Given the description of an element on the screen output the (x, y) to click on. 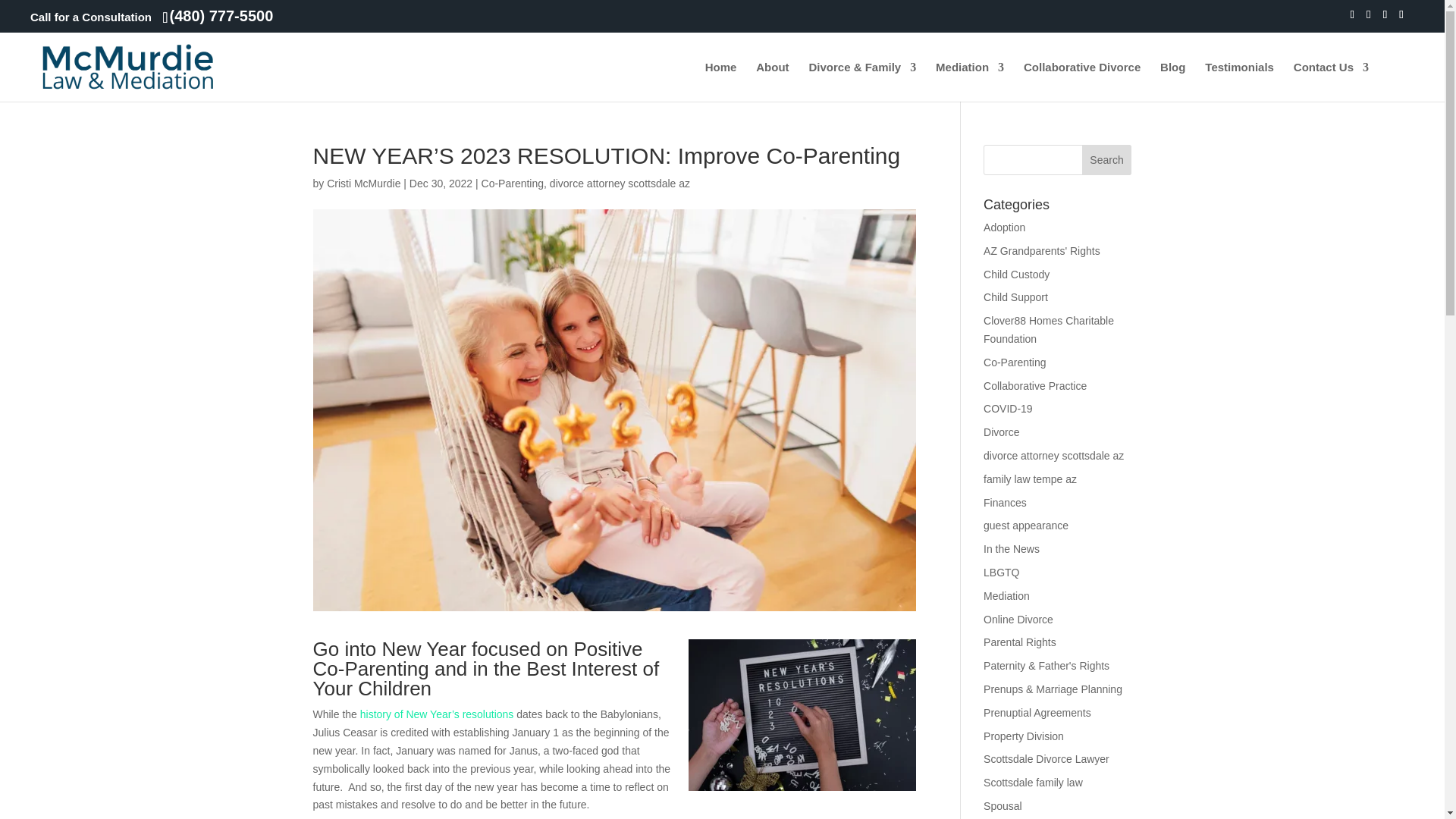
Testimonials (1239, 81)
Search (1106, 159)
Collaborative Divorce (1081, 81)
Contact Us (1331, 81)
Mediation (970, 81)
